Given the description of an element on the screen output the (x, y) to click on. 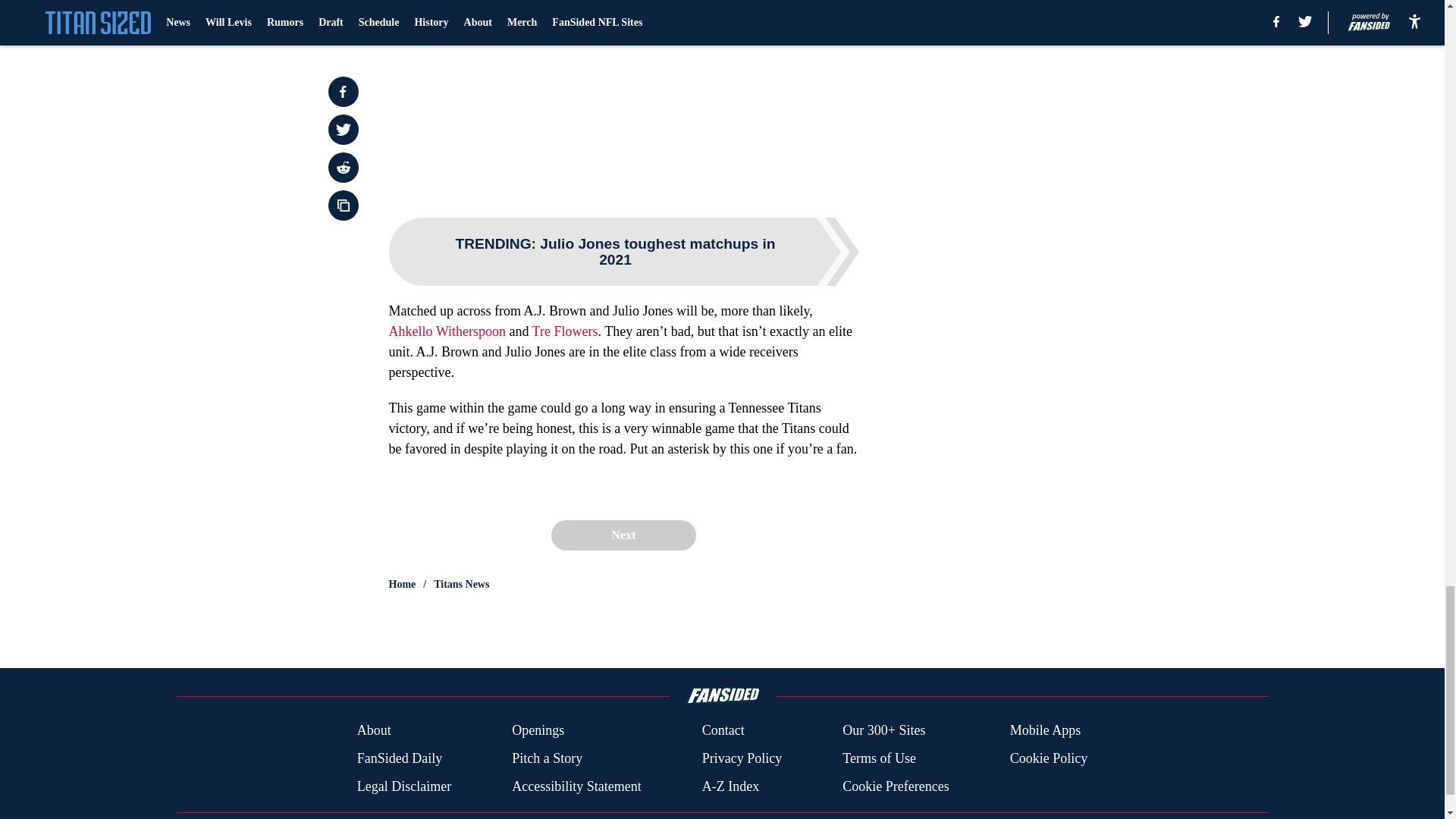
Titans News (461, 584)
Pitch a Story (547, 758)
Privacy Policy (742, 758)
About (373, 730)
Tre Flowers (565, 331)
TRENDING: Julio Jones toughest matchups in 2021 (623, 251)
Openings (538, 730)
Contact (722, 730)
Next (622, 535)
Ahkello Witherspoon (446, 331)
